Given the description of an element on the screen output the (x, y) to click on. 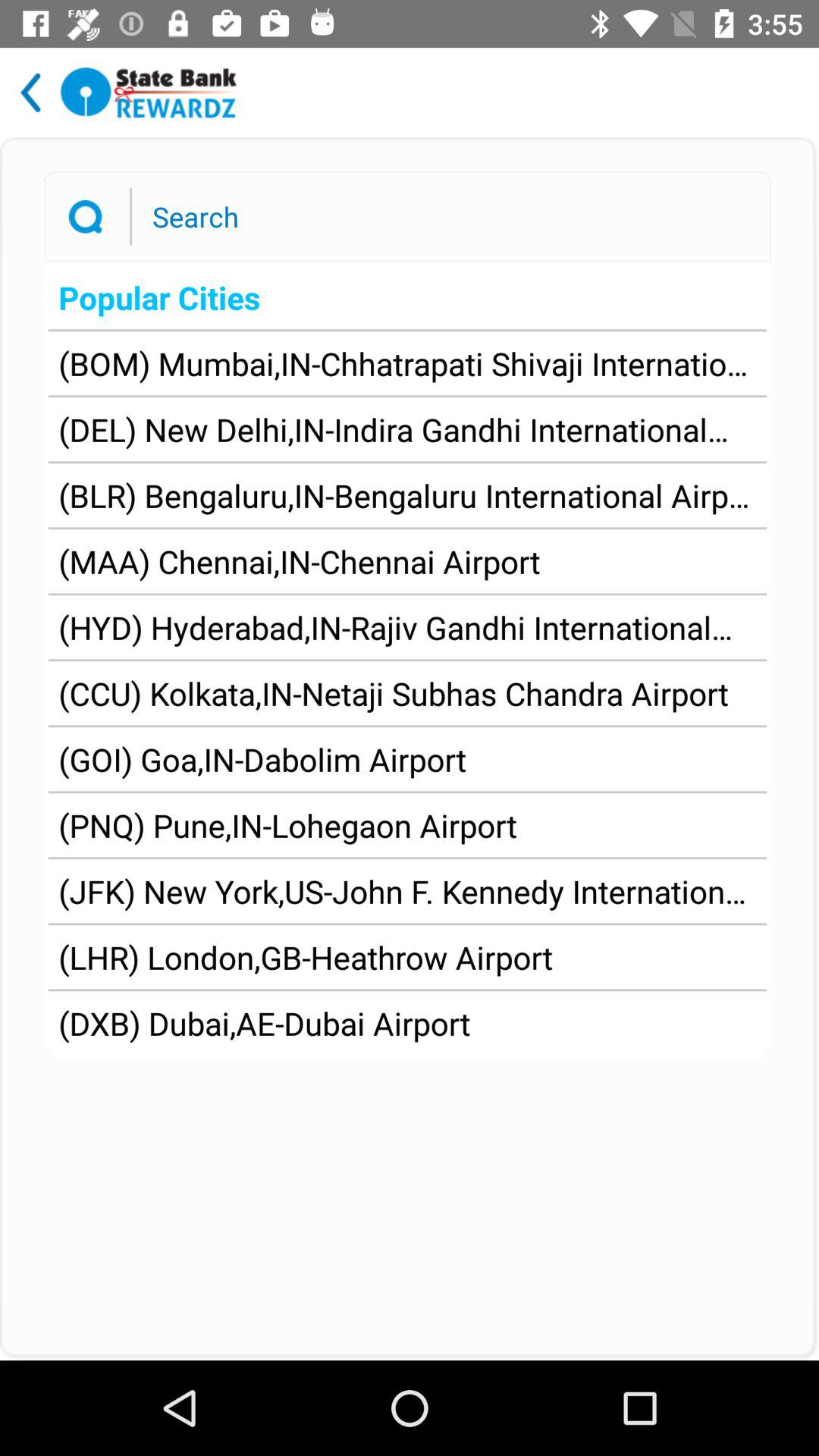
press dxb dubai ae (264, 1022)
